Given the description of an element on the screen output the (x, y) to click on. 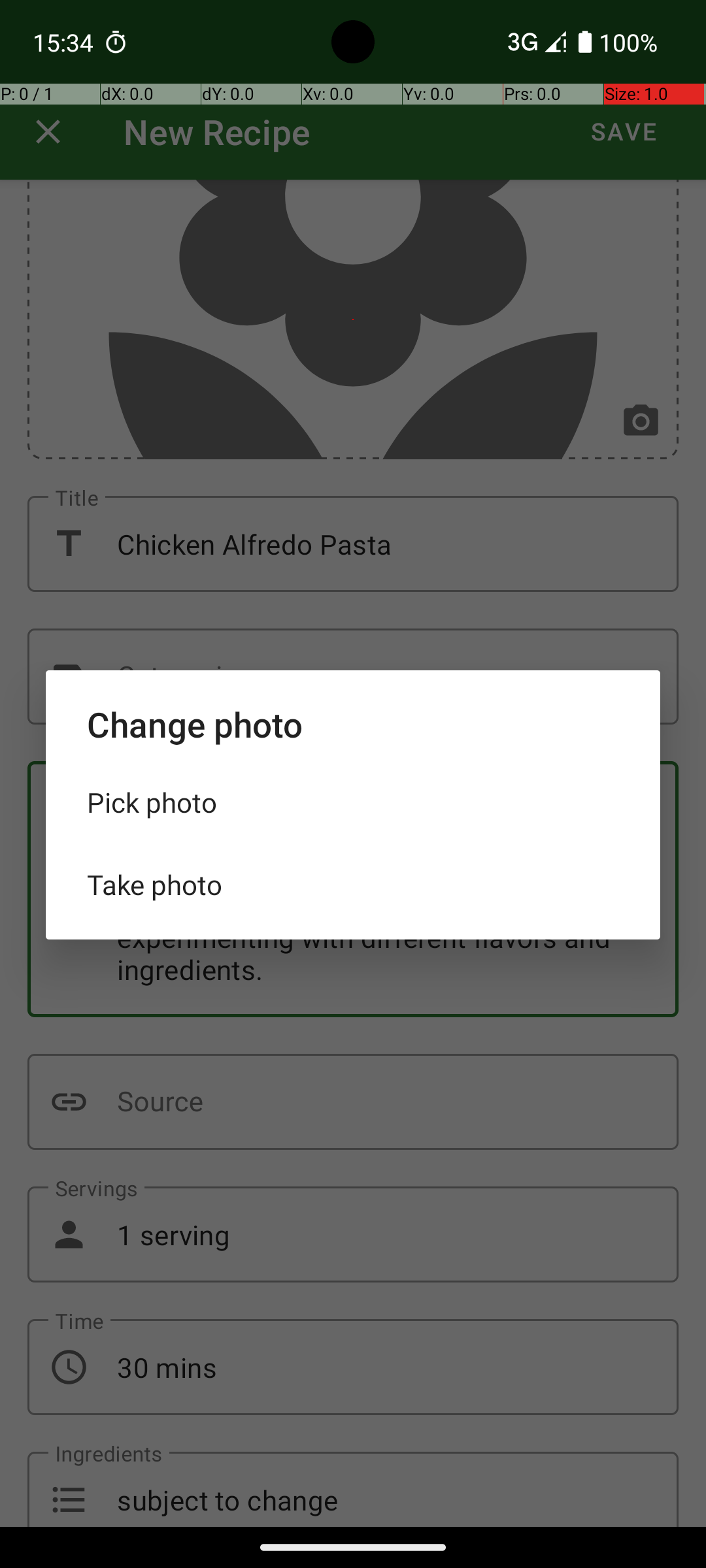
Change photo Element type: android.widget.TextView (352, 724)
Pick photo Element type: android.widget.TextView (352, 802)
Take photo Element type: android.widget.TextView (352, 884)
